Given the description of an element on the screen output the (x, y) to click on. 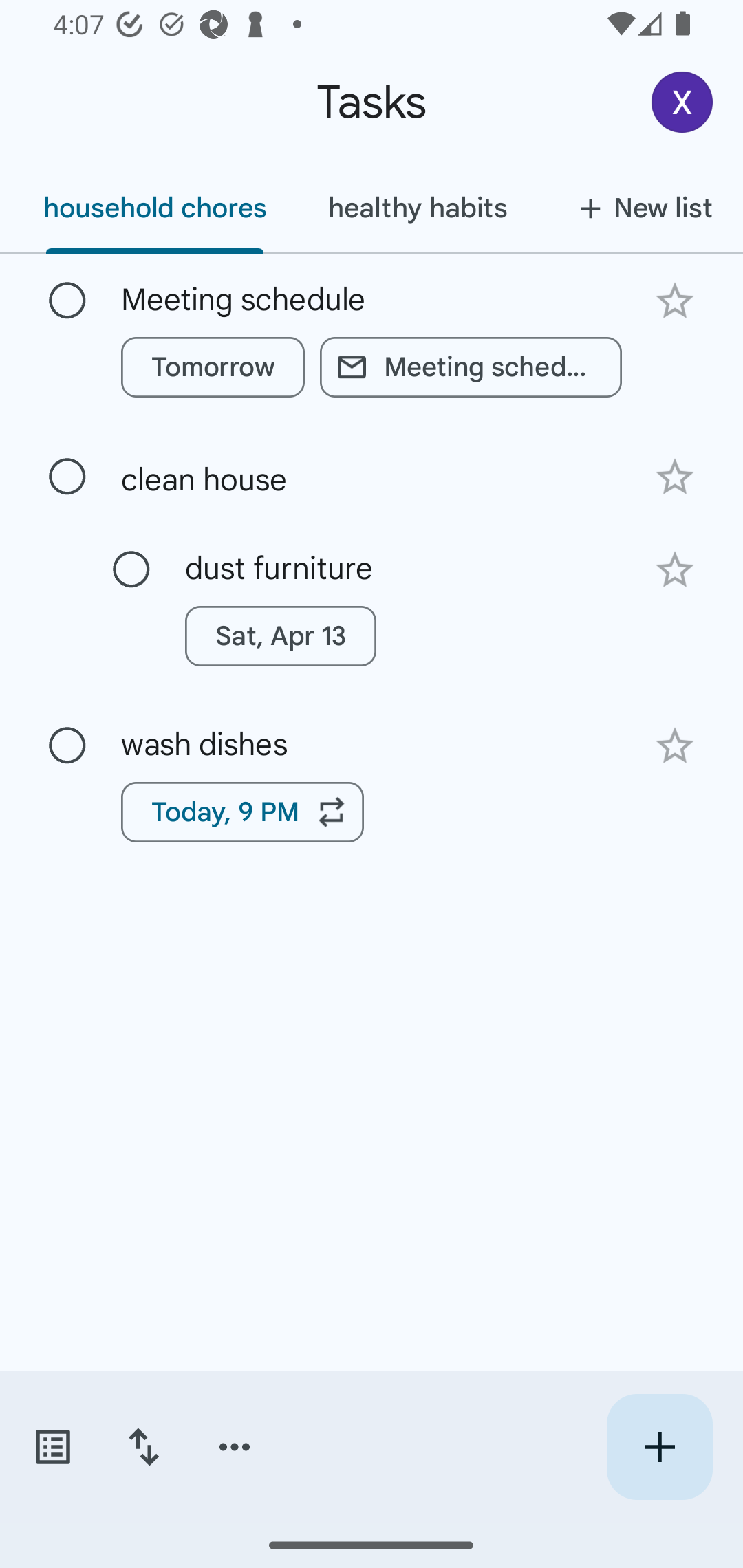
healthy habits (417, 208)
New list (640, 208)
Add star (674, 300)
Mark as complete (67, 301)
Tomorrow (212, 366)
Meeting schedule Related link (470, 366)
Add star (674, 476)
Mark as complete (67, 477)
Add star (674, 570)
Mark as complete (131, 569)
Sat, Apr 13 (280, 636)
Add star (674, 745)
Mark as complete (67, 745)
Today, 9 PM (242, 811)
Switch task lists (52, 1447)
Create new task (659, 1446)
Change sort order (143, 1446)
More options (234, 1446)
